Given the description of an element on the screen output the (x, y) to click on. 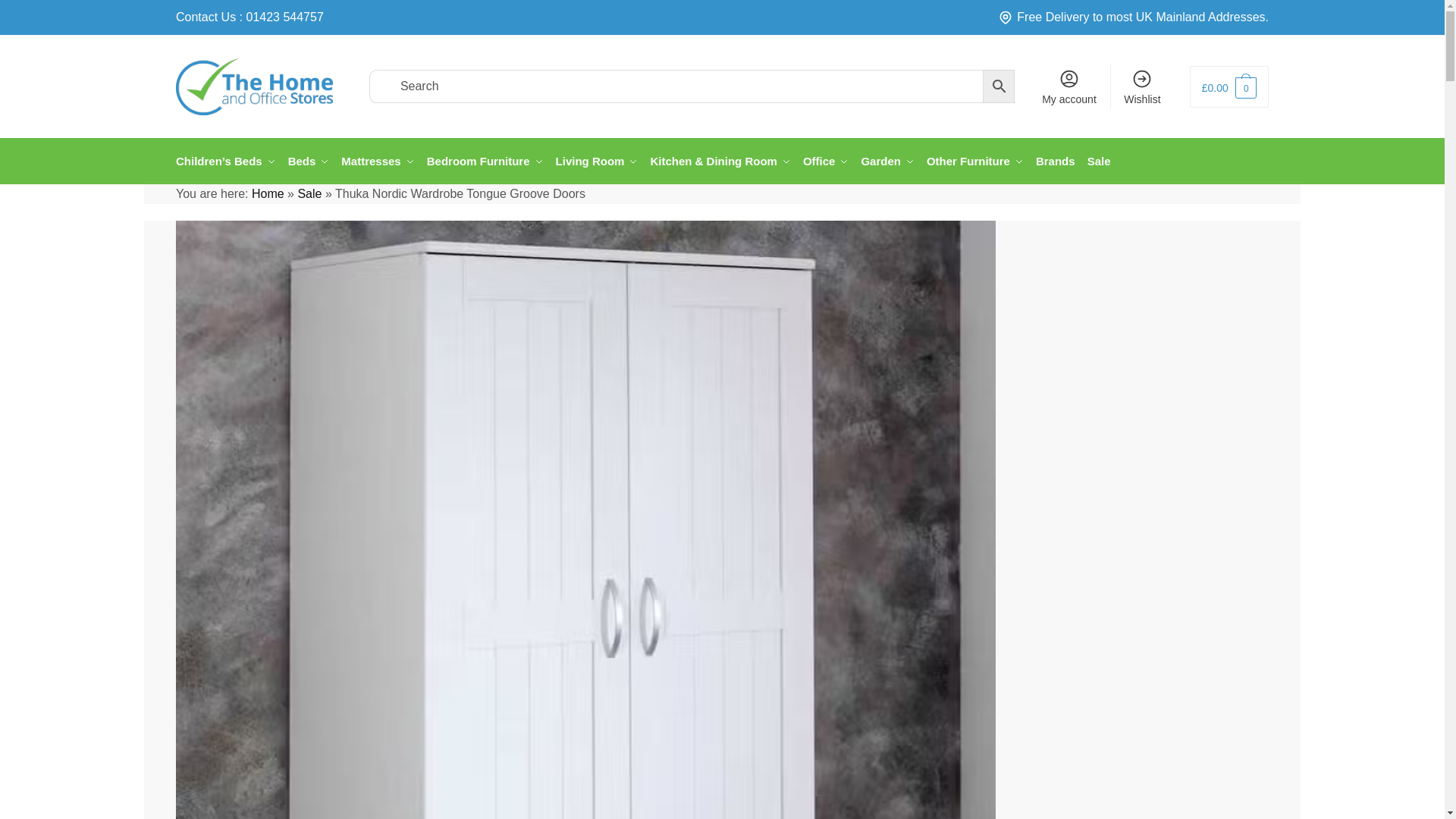
Contact Us (205, 16)
Wishlist (1142, 86)
01423 544757 (284, 16)
View your shopping cart (1228, 86)
My account (1068, 86)
